Given the description of an element on the screen output the (x, y) to click on. 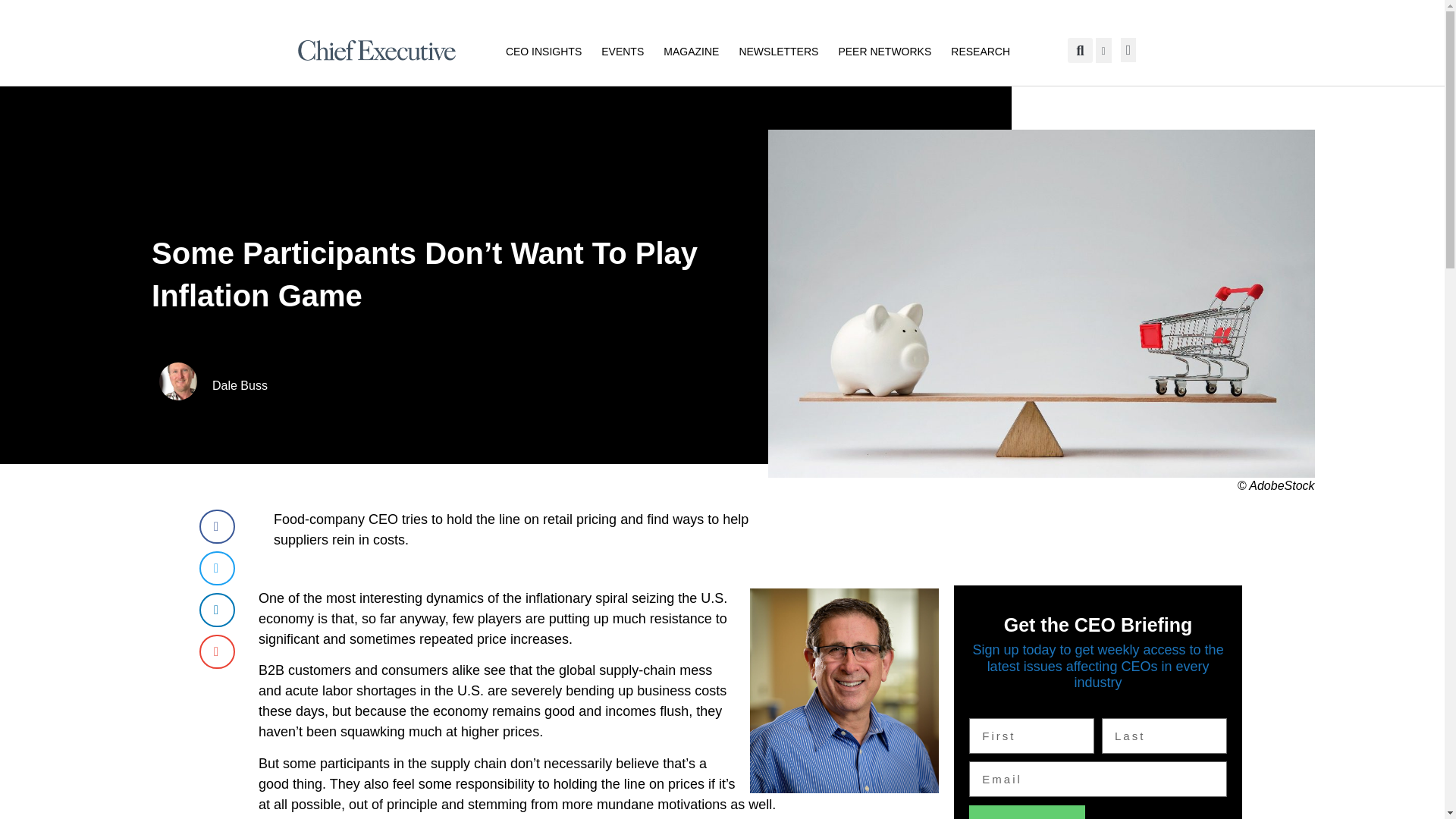
EVENTS (622, 50)
NEWSLETTERS (778, 50)
MAGAZINE (691, 50)
CEO INSIGHTS (543, 50)
PEER NETWORKS (884, 50)
RESEARCH (980, 50)
